Given the description of an element on the screen output the (x, y) to click on. 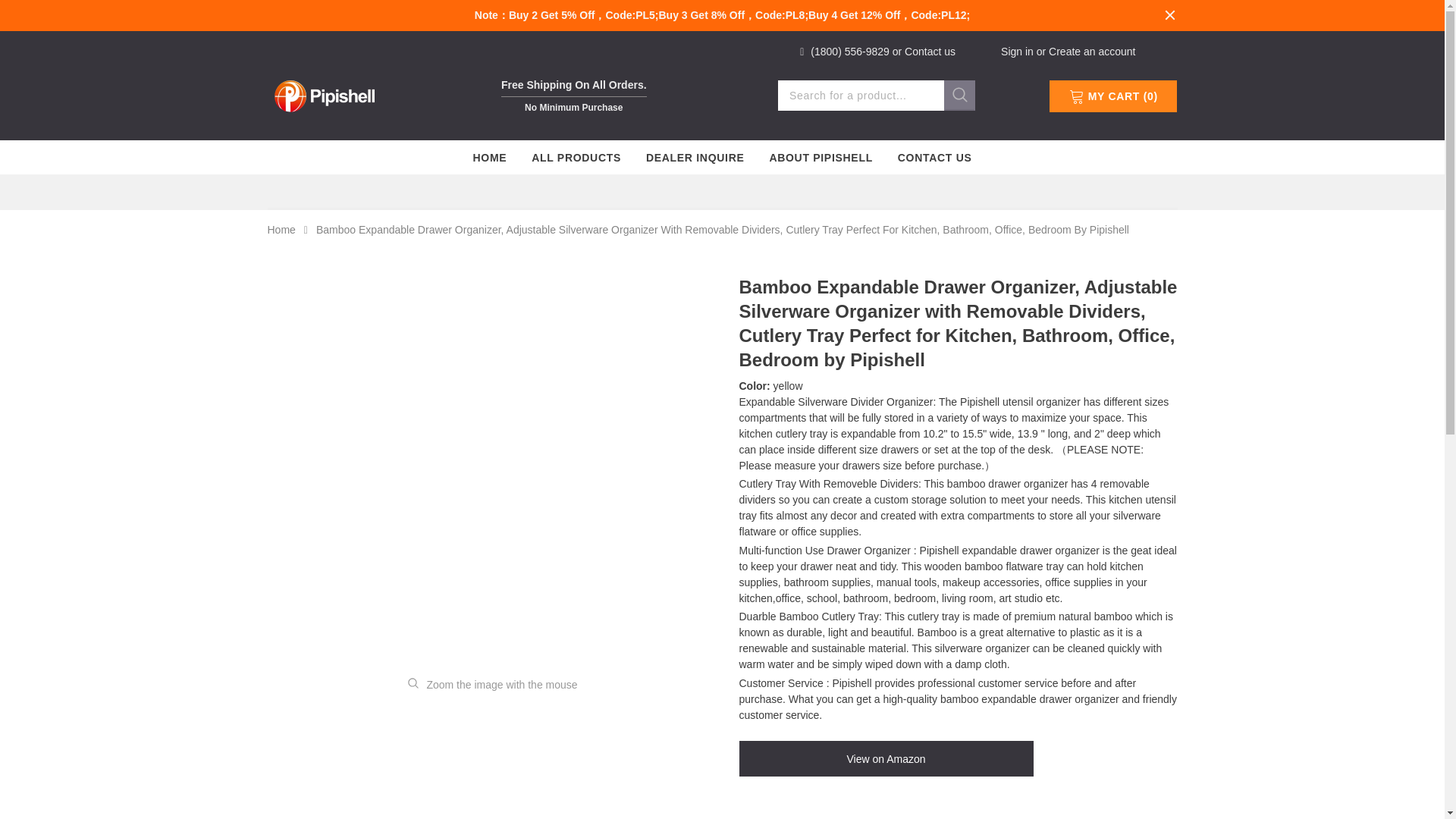
CONTACT US (935, 157)
Logo (323, 94)
HOME (488, 157)
close (1168, 14)
ALL PRODUCTS (576, 157)
DEALER INQUIRE (695, 157)
Create an account (1091, 51)
ABOUT PIPISHELL (820, 157)
Contact us (929, 51)
Sign in (1018, 51)
